Given the description of an element on the screen output the (x, y) to click on. 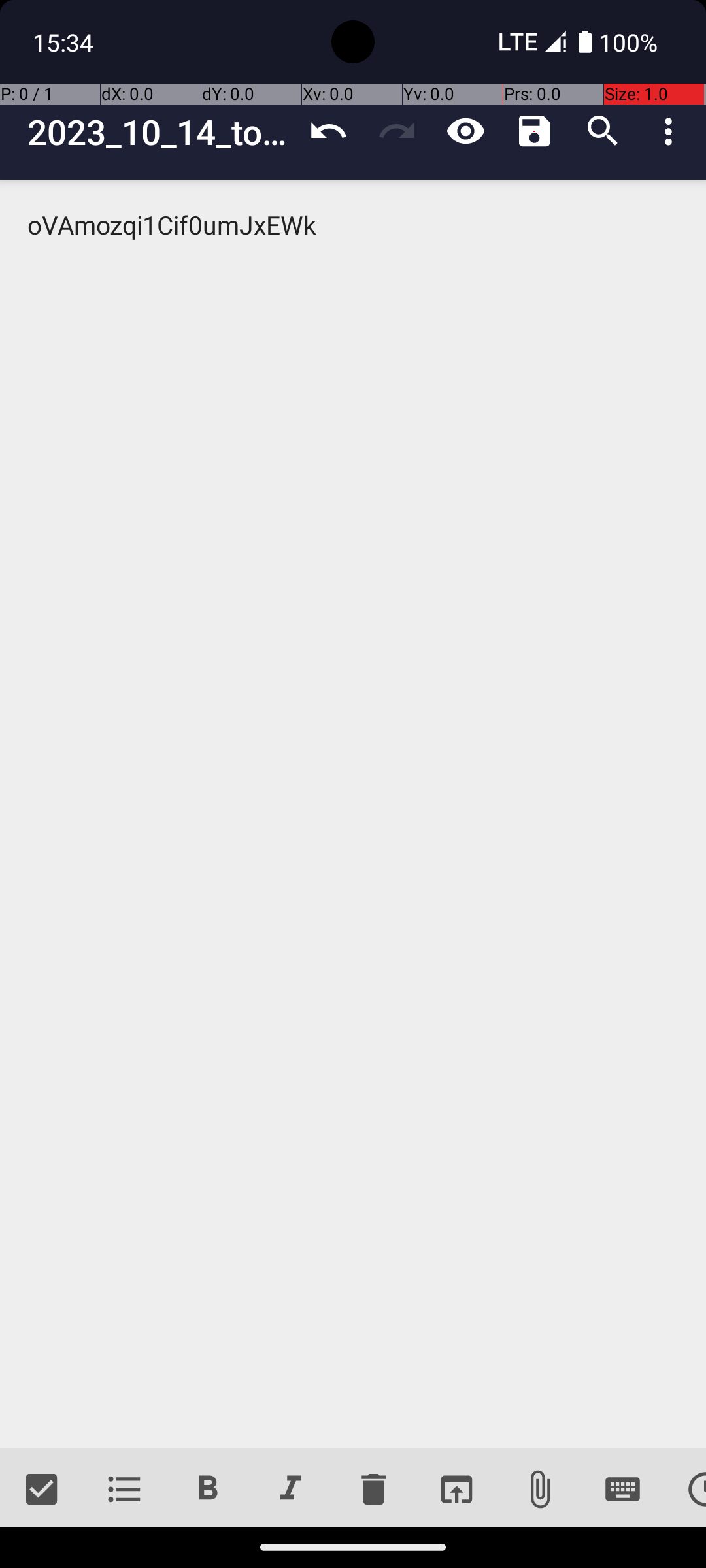
2023_10_14_tough_mouse_2023_04_01 Element type: android.widget.TextView (160, 131)
oVAmozqi1Cif0umJxEWk Element type: android.widget.EditText (353, 813)
